Given the description of an element on the screen output the (x, y) to click on. 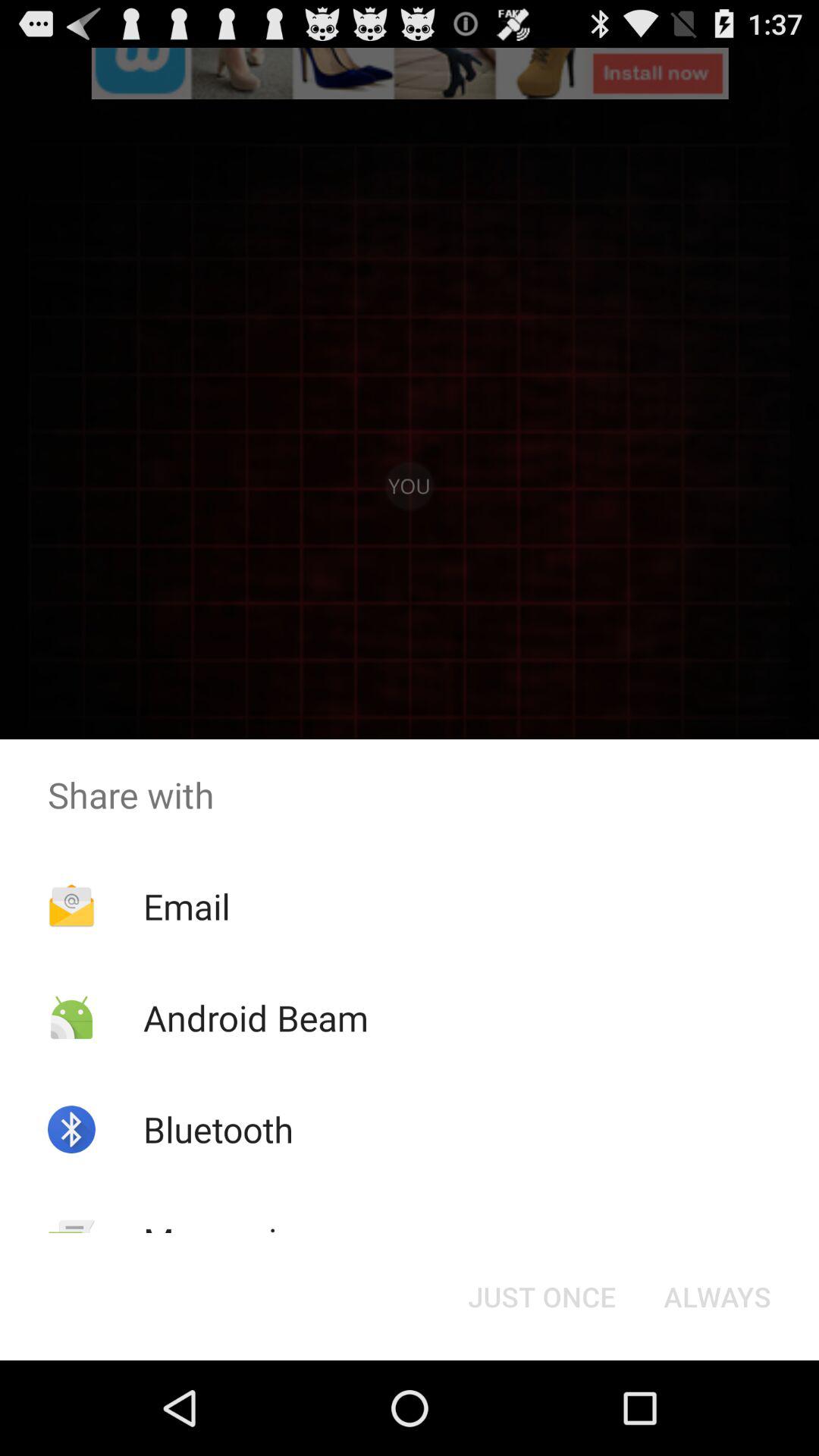
scroll to the just once item (541, 1296)
